Given the description of an element on the screen output the (x, y) to click on. 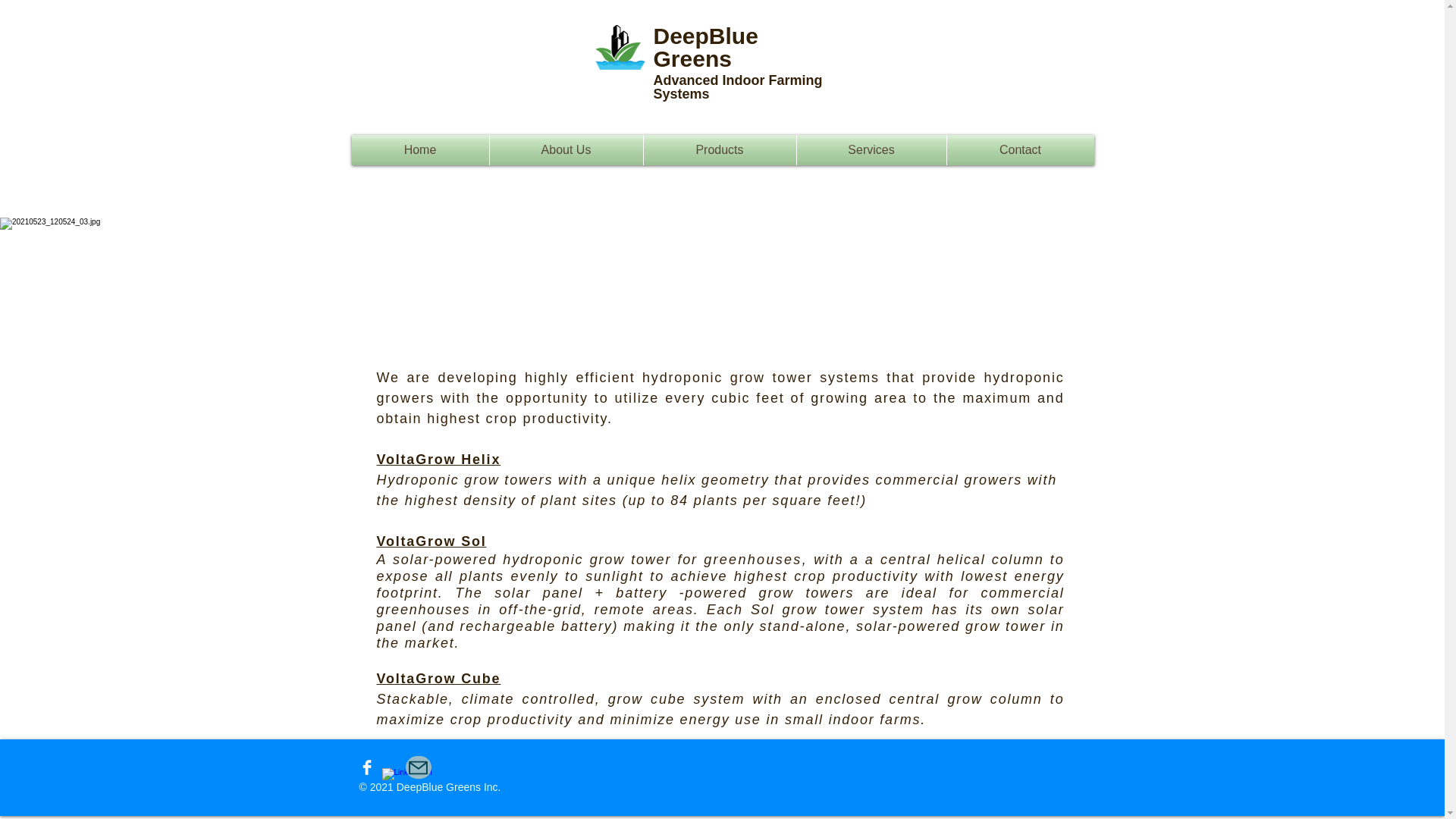
Home (420, 150)
Advanced Indoor Farming Systems (737, 86)
About Us (566, 150)
DeepBlue Greens (705, 47)
Contact (1019, 150)
